Given the description of an element on the screen output the (x, y) to click on. 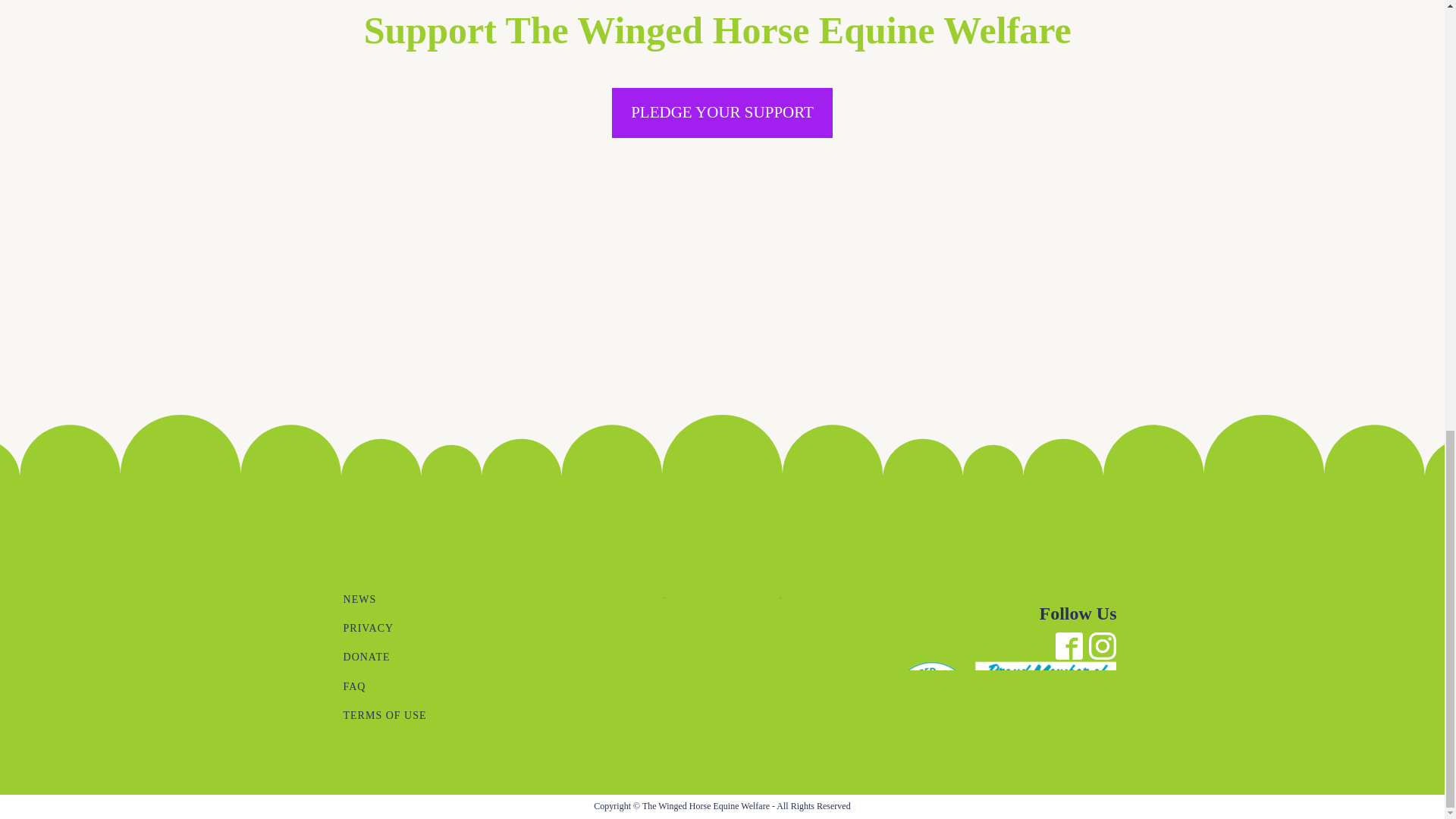
FAQ (385, 686)
NEWS (385, 599)
TERMS OF USE (385, 715)
PLEDGE YOUR SUPPORT (721, 112)
DONATE (385, 656)
PRIVACY (385, 628)
